Given the description of an element on the screen output the (x, y) to click on. 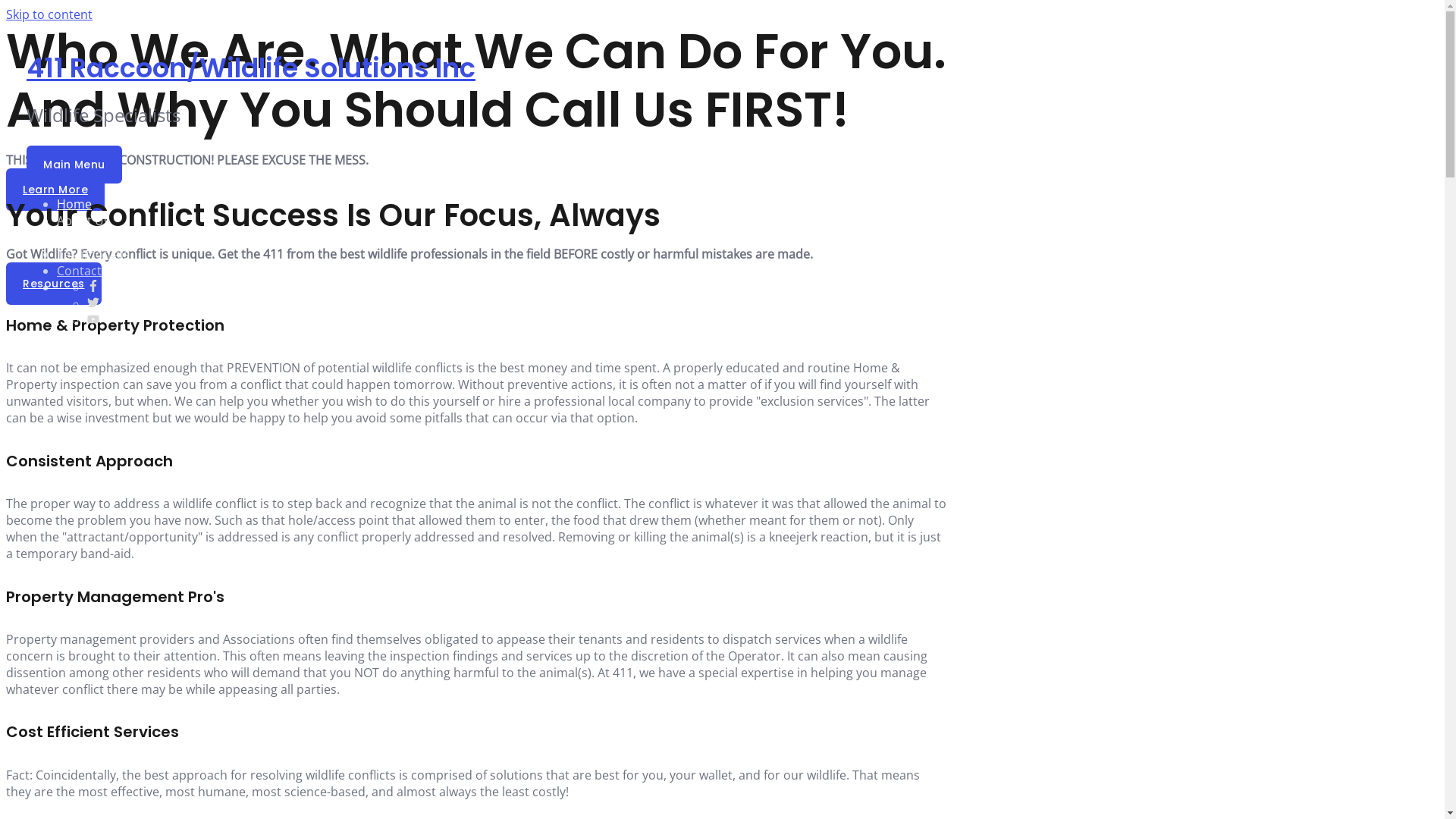
Pricing Element type: text (76, 237)
411 Raccoon/Wildlife Solutions Inc Element type: text (250, 67)
Home Element type: text (73, 203)
Contact Element type: text (78, 270)
Learn More Element type: text (55, 189)
About Us Element type: text (82, 220)
Skip to content Element type: text (49, 14)
Testimonials Element type: text (92, 253)
Main Menu Element type: text (74, 164)
Resources Element type: text (53, 283)
